Given the description of an element on the screen output the (x, y) to click on. 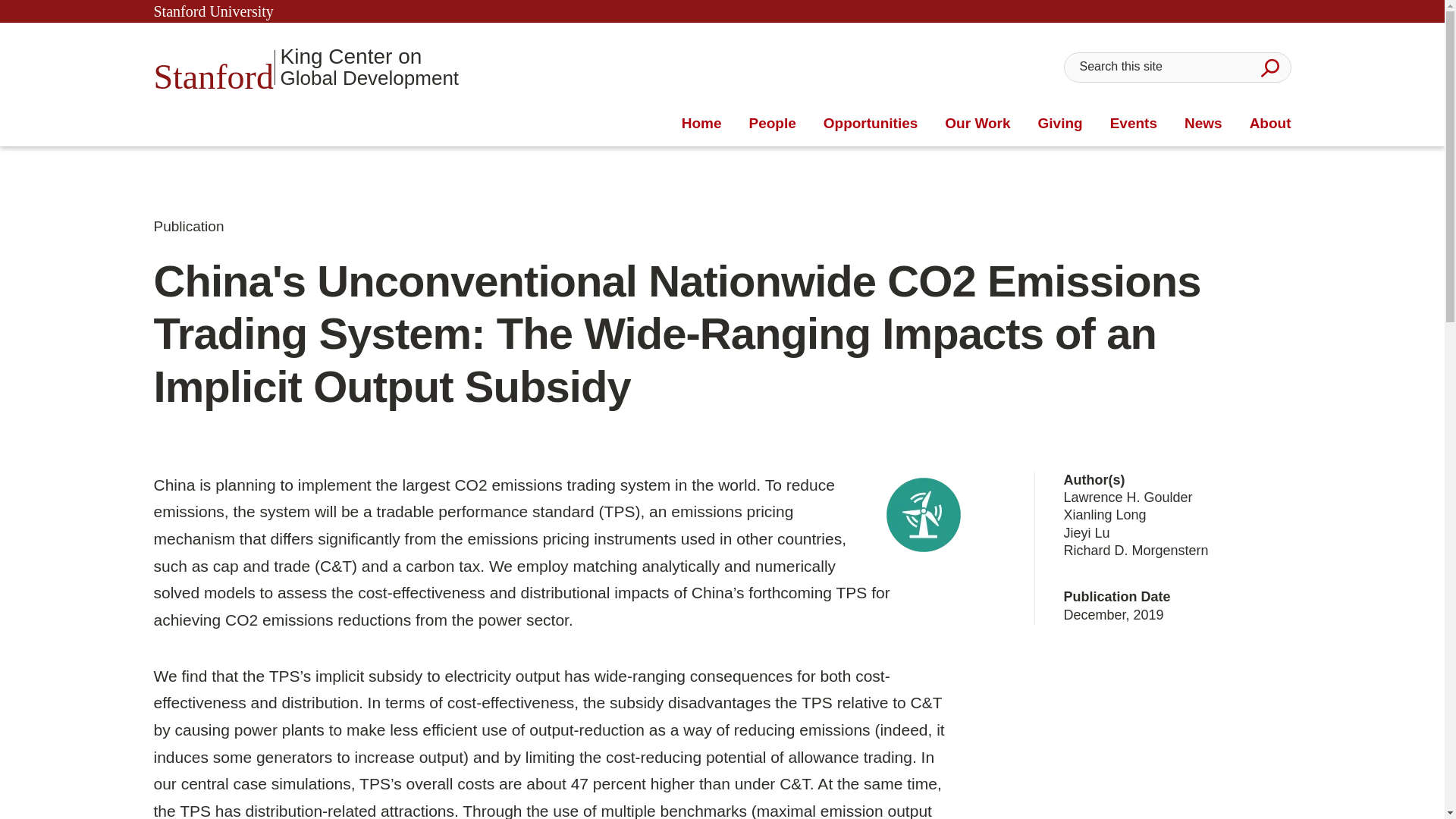
People (771, 123)
Home (701, 123)
Programmatic Opportunities (871, 123)
Back to the homepage (701, 123)
Submit Search (305, 67)
Opportunities (1269, 67)
